Given the description of an element on the screen output the (x, y) to click on. 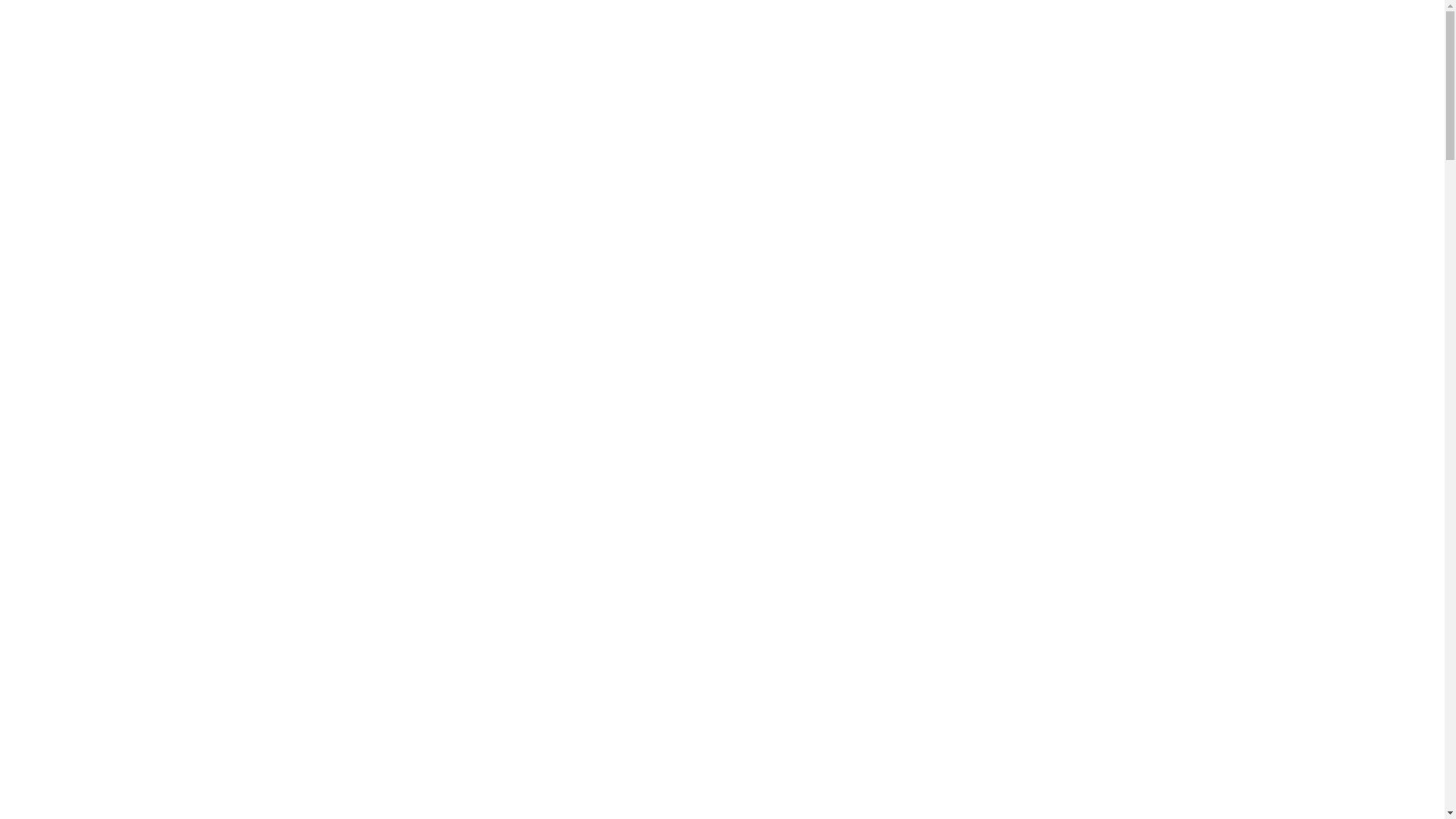
Home Element type: text (52, 462)
About Element type: text (52, 584)
Services Element type: text (58, 705)
contact@liptoncleaning.com.au Element type: text (126, 53)
0419 356 831 Element type: text (73, 20)
